Given the description of an element on the screen output the (x, y) to click on. 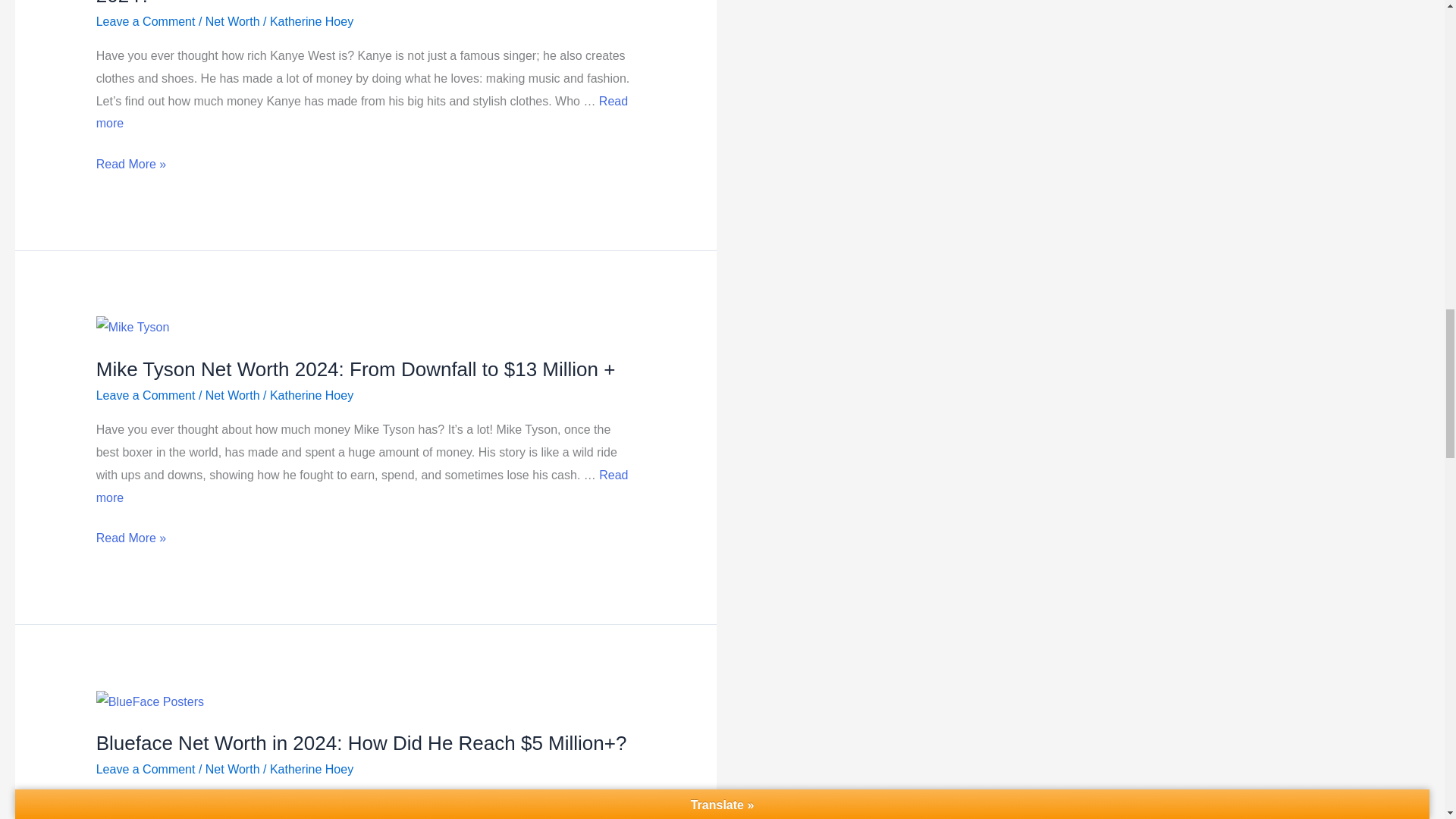
View all posts by Katherine Hoey (311, 768)
Leave a Comment (145, 395)
Kanye West Net Worth: Has He Recovered His Wealth in 2024? (345, 3)
Leave a Comment (145, 21)
View all posts by Katherine Hoey (311, 21)
Katherine Hoey (311, 21)
Net Worth (232, 21)
Read more (361, 112)
Kanye West Net Worth: Has He Recovered His Wealth in 2024? (361, 112)
View all posts by Katherine Hoey (311, 395)
